Given the description of an element on the screen output the (x, y) to click on. 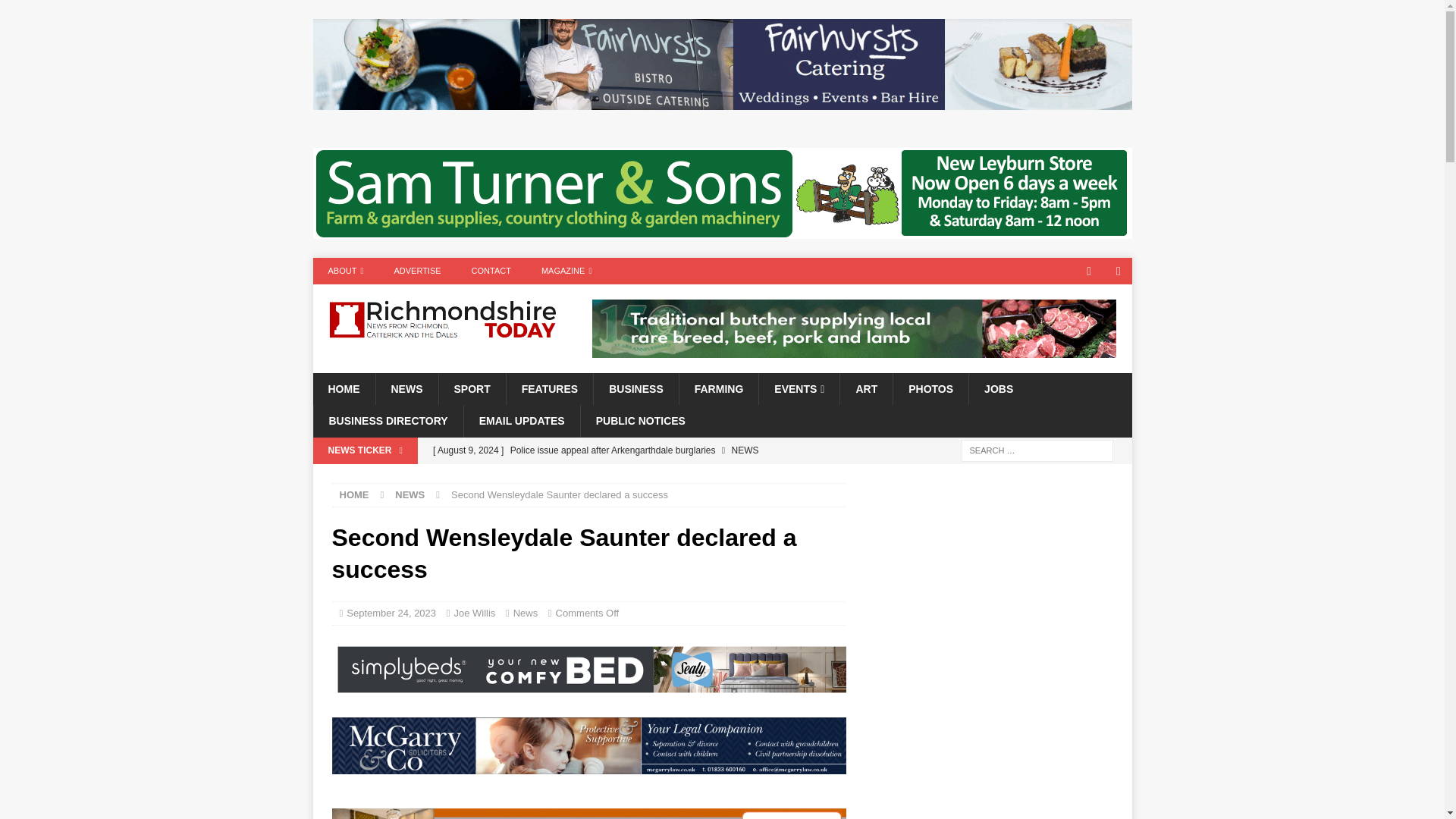
EMAIL UPDATES (521, 420)
BUSINESS DIRECTORY (388, 420)
Police issue appeal after Arkengarthdale burglaries (634, 450)
JOBS (997, 388)
Search (56, 11)
FEATURES (548, 388)
HOME (343, 388)
MAGAZINE (566, 270)
ADVERTISE (416, 270)
